Given the description of an element on the screen output the (x, y) to click on. 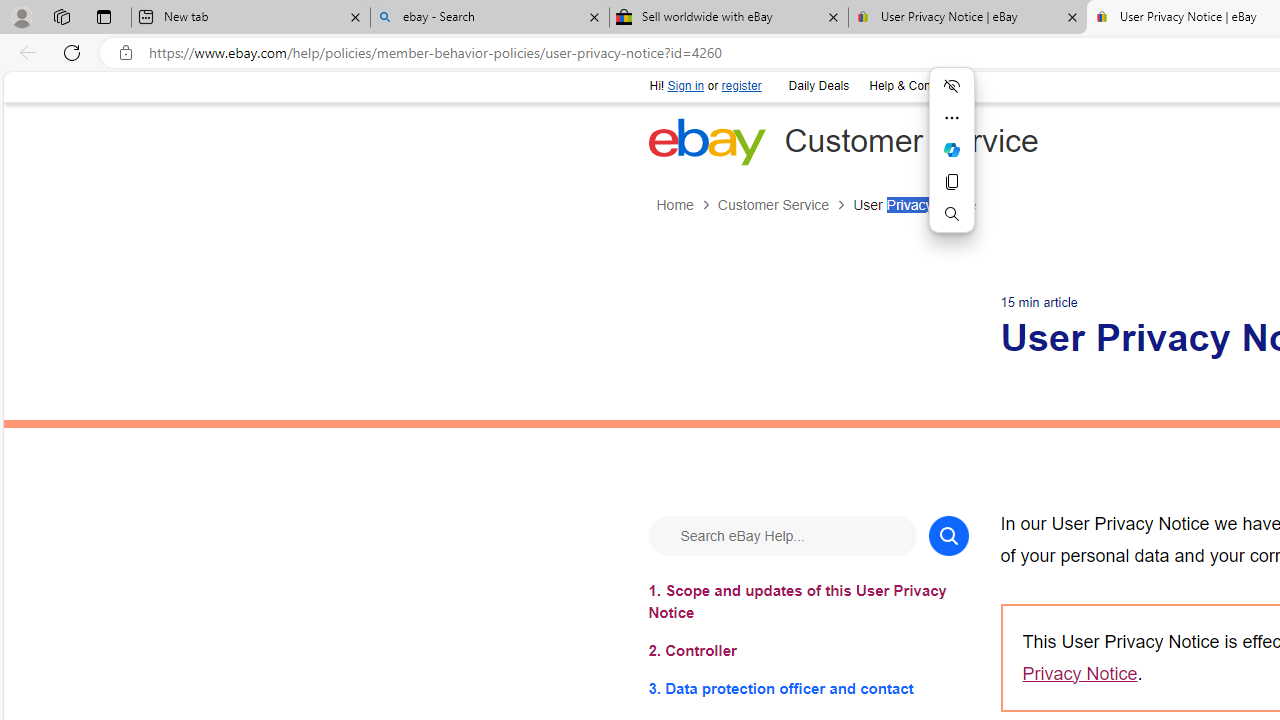
Hide menu (952, 85)
Copy (952, 182)
Mini menu on text selection (952, 149)
1. Scope and updates of this User Privacy Notice (807, 601)
More actions (952, 117)
User Privacy Notice | eBay (967, 17)
Home (686, 205)
Customer Service (784, 205)
Mini menu on text selection (952, 161)
Help & Contact (907, 84)
